Given the description of an element on the screen output the (x, y) to click on. 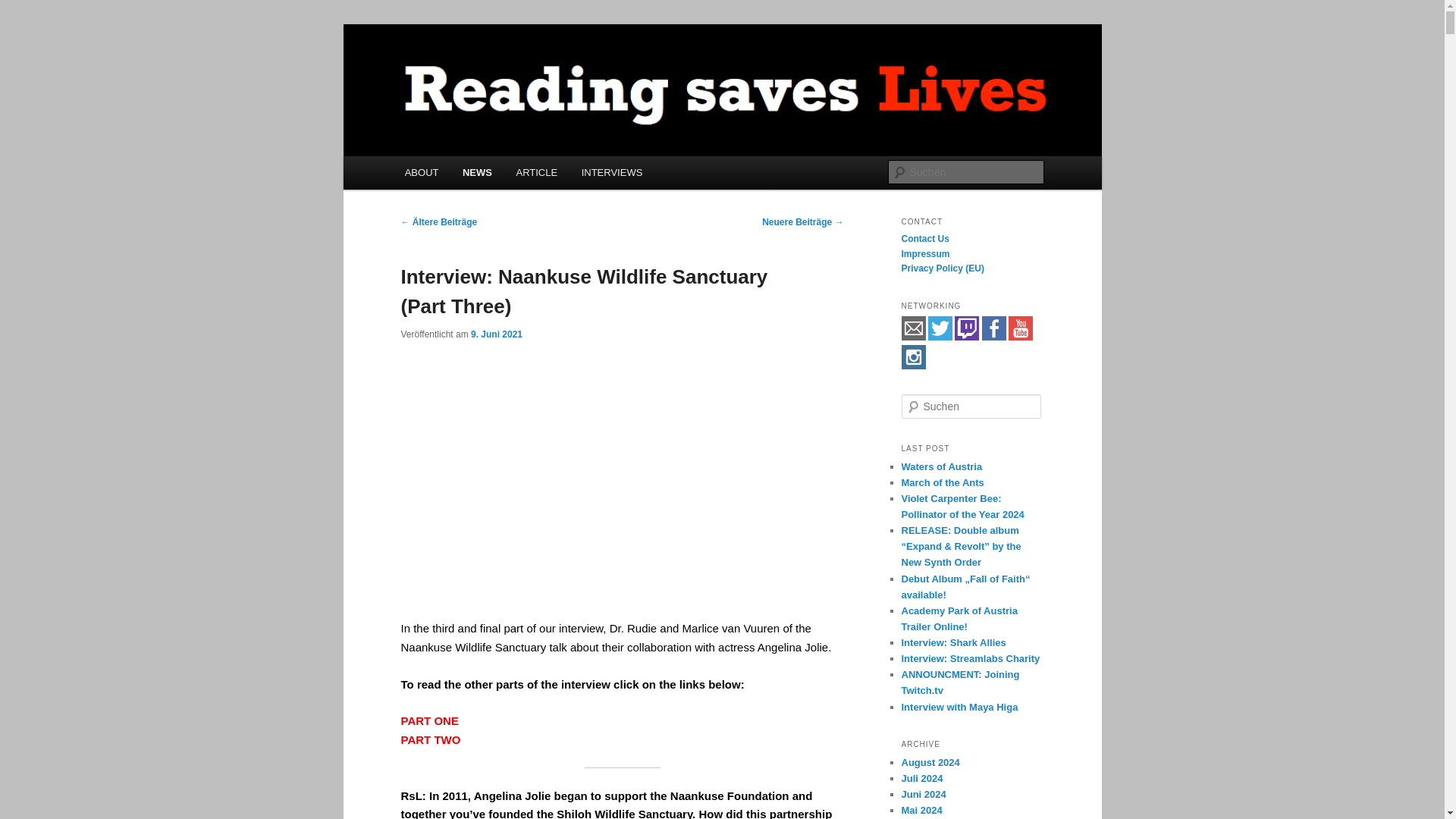
PART TWO (430, 739)
Suchen (25, 8)
NEWS (476, 172)
PART ONE (429, 720)
Behind the scenes at Naankuse (621, 484)
ABOUT (421, 172)
12:00 (496, 334)
9. Juni 2021 (496, 334)
Lesen rettet Leben (501, 78)
INTERVIEWS (611, 172)
